Given the description of an element on the screen output the (x, y) to click on. 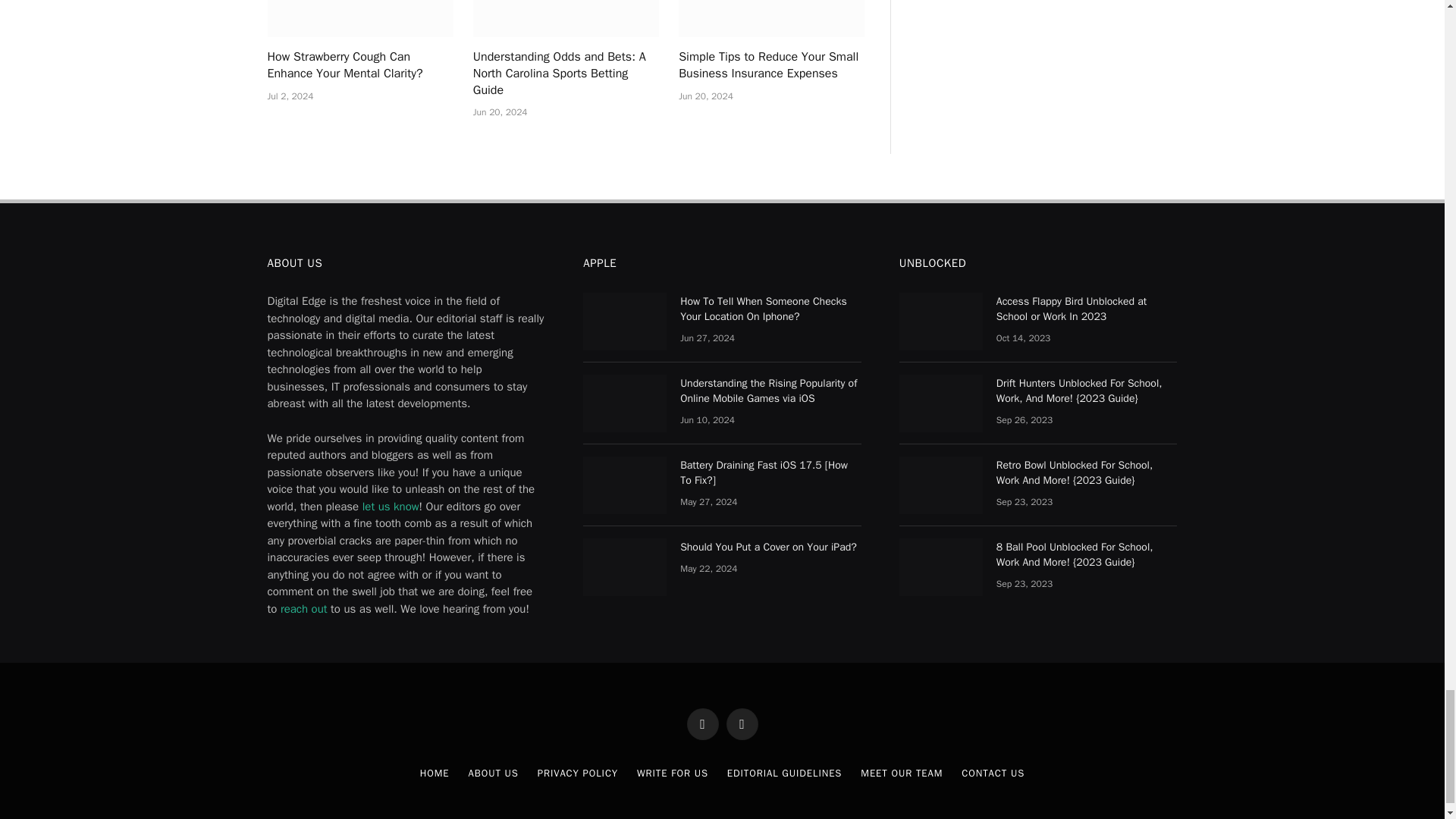
How Strawberry Cough Can Enhance Your Mental Clarity? (359, 18)
Simple Tips to Reduce Your Small Business Insurance Expenses (771, 18)
